Given the description of an element on the screen output the (x, y) to click on. 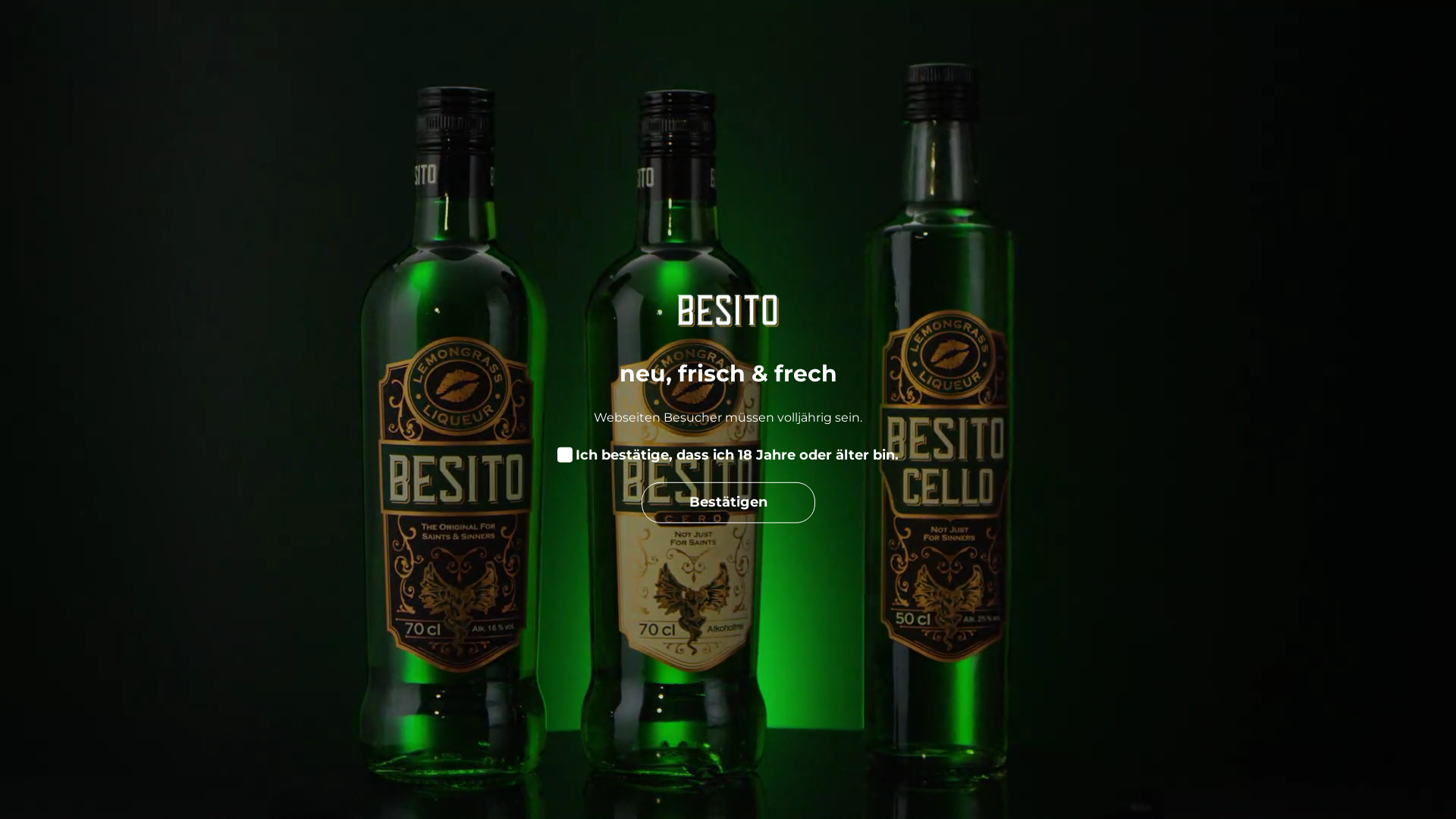
Zum Produkt Element type: text (404, 512)
Rezepte Element type: text (677, 32)
News Element type: text (768, 32)
Verkaufsstellen Element type: text (548, 32)
Cookie Einstellungen Element type: text (1287, 792)
Produkte Element type: text (300, 32)
Akzeptieren Element type: text (1397, 792)
Webshop Element type: text (412, 32)
Logo_Schrift_ohne_hintergrund Element type: hover (129, 32)
Zum Produkt Element type: text (1051, 512)
Zum Produkt Element type: text (727, 512)
CHF0.00
0 Element type: text (1250, 32)
